Given the description of an element on the screen output the (x, y) to click on. 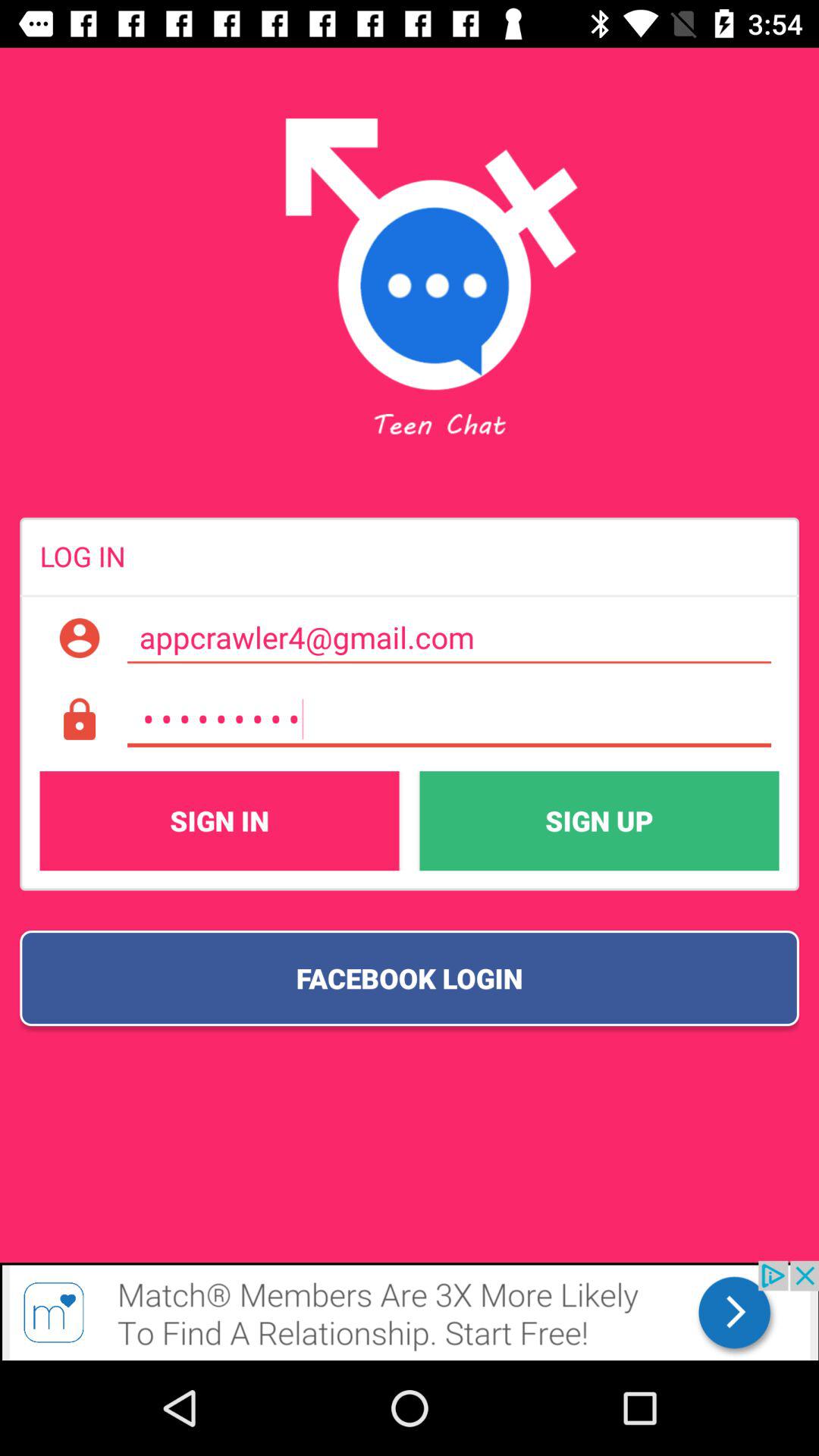
next button (409, 1310)
